Given the description of an element on the screen output the (x, y) to click on. 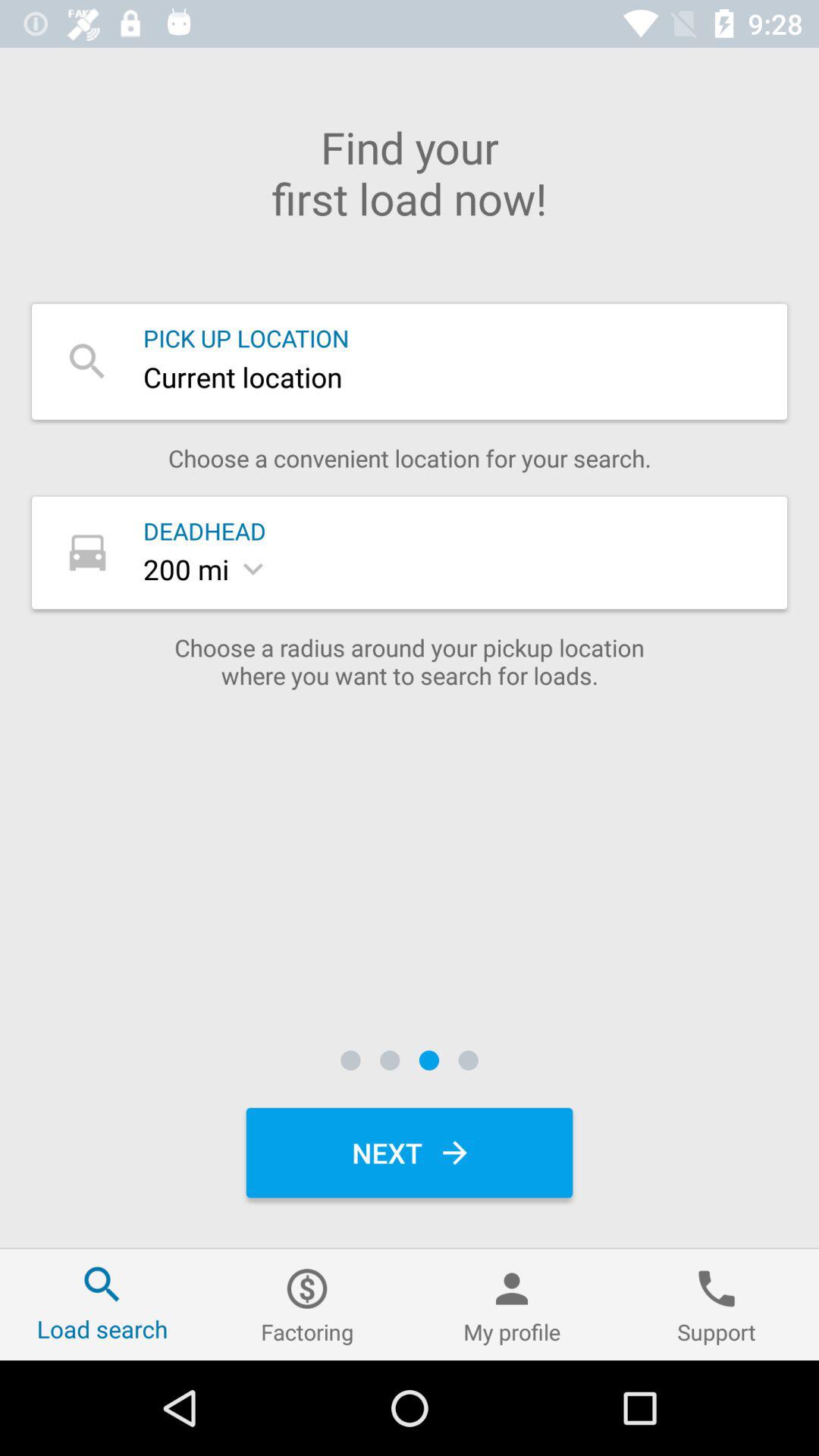
select icon to the left of support (511, 1304)
